Given the description of an element on the screen output the (x, y) to click on. 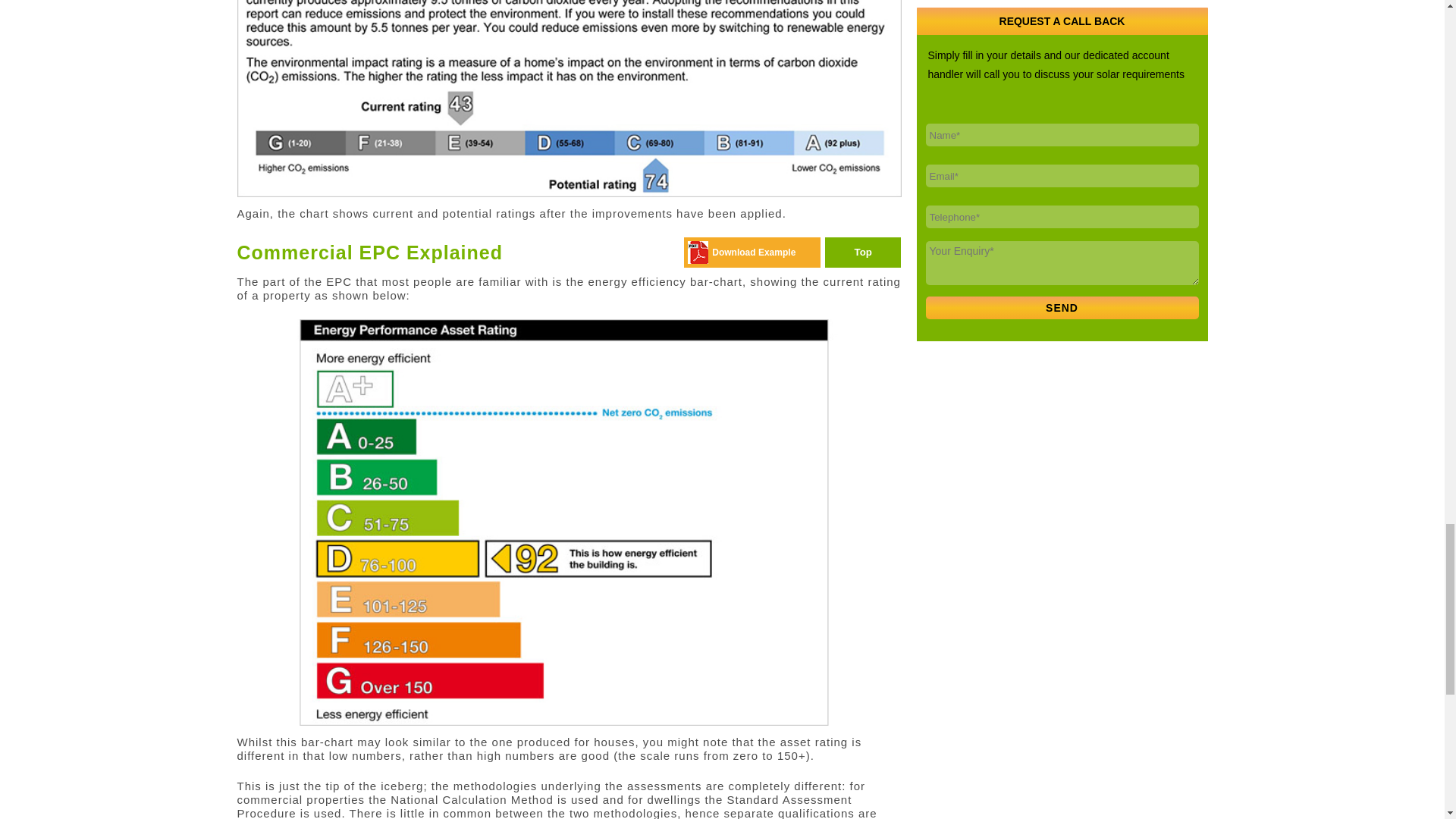
Download Example (752, 252)
Top (863, 252)
